Given the description of an element on the screen output the (x, y) to click on. 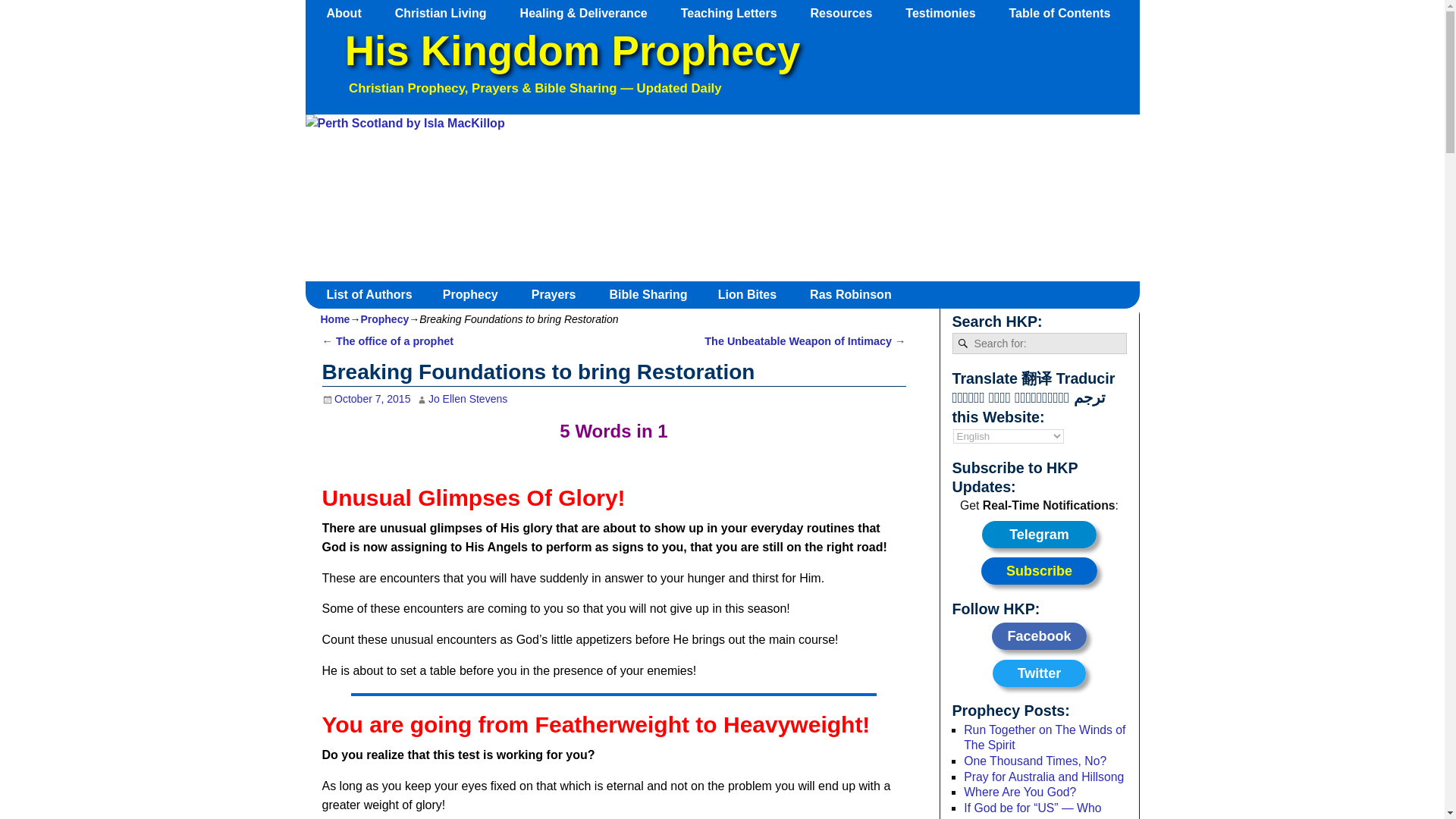
Table of Contents (1066, 13)
Testimonies (947, 13)
Christian Living (448, 13)
About (351, 13)
His Kingdom Prophecy (571, 50)
View all posts by Jo Ellen Stevens (467, 398)
8:34 am (365, 398)
His Kingdom Prophecy (571, 50)
List of Authors (374, 294)
Teaching Letters (736, 13)
